Given the description of an element on the screen output the (x, y) to click on. 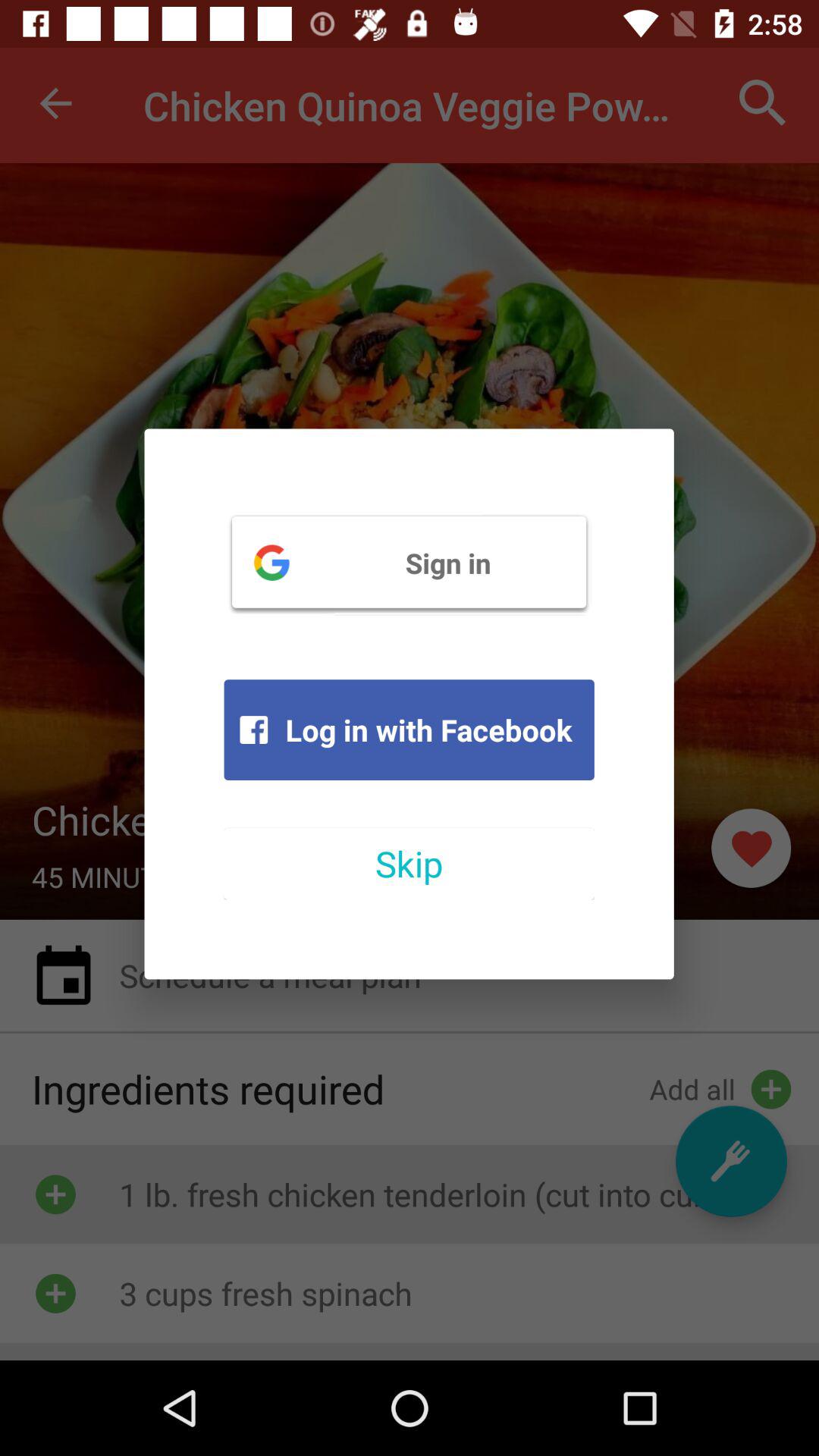
flip to the log in with icon (409, 729)
